Given the description of an element on the screen output the (x, y) to click on. 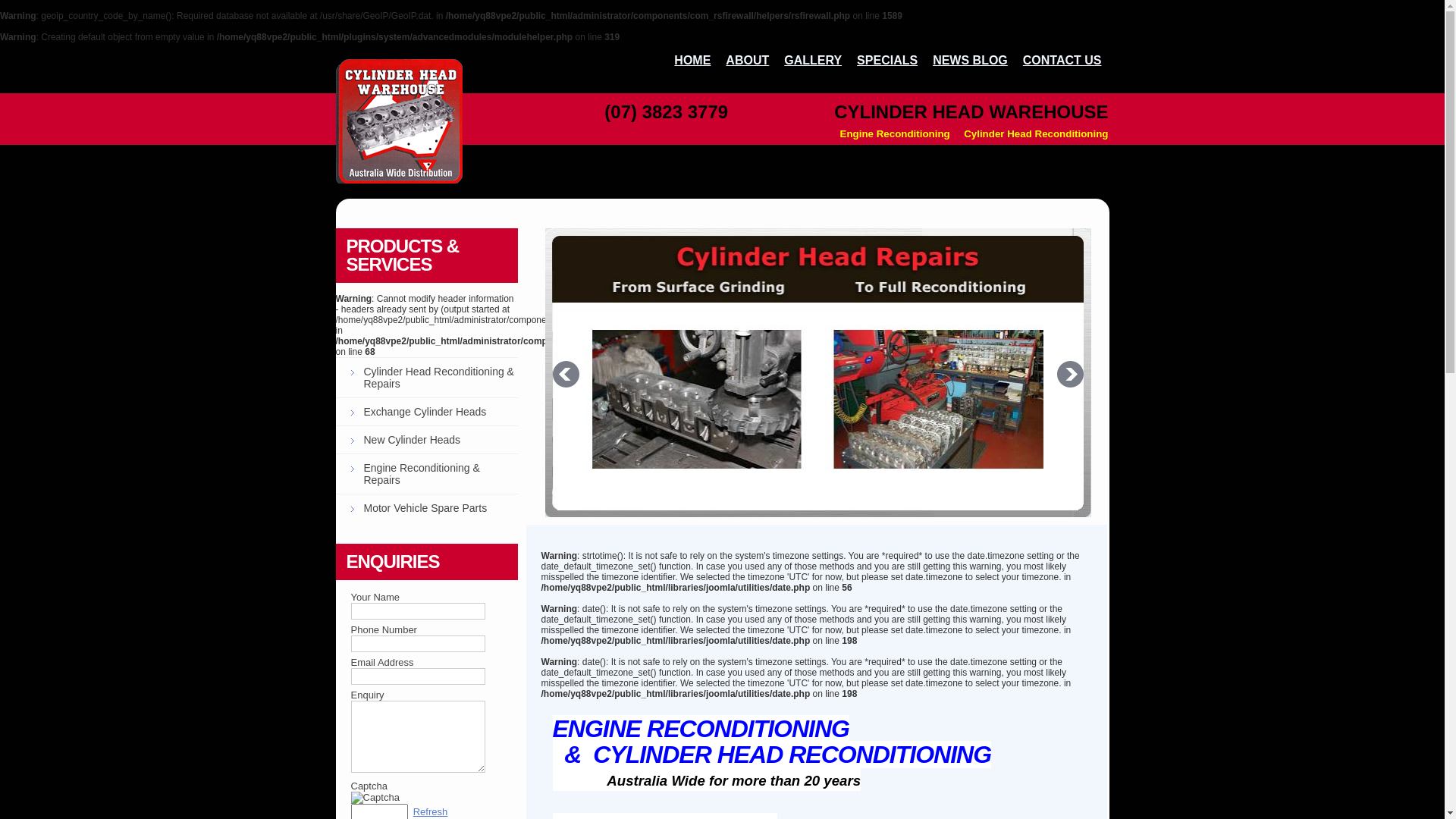
ABOUT Element type: text (746, 59)
Cylinder Head Reconditioning & Repairs Element type: text (426, 377)
New Cylinder Heads Element type: text (426, 439)
NEWS BLOG Element type: text (969, 59)
GALLERY Element type: text (812, 59)
Engine Reconditioning & Repairs Element type: text (426, 473)
Refresh Element type: text (430, 811)
SPECIALS Element type: text (886, 59)
Motor Vehicle Spare Parts Element type: text (426, 507)
CONTACT US Element type: text (1061, 59)
HOME Element type: text (692, 59)
Exchange Cylinder Heads Element type: text (426, 411)
